Given the description of an element on the screen output the (x, y) to click on. 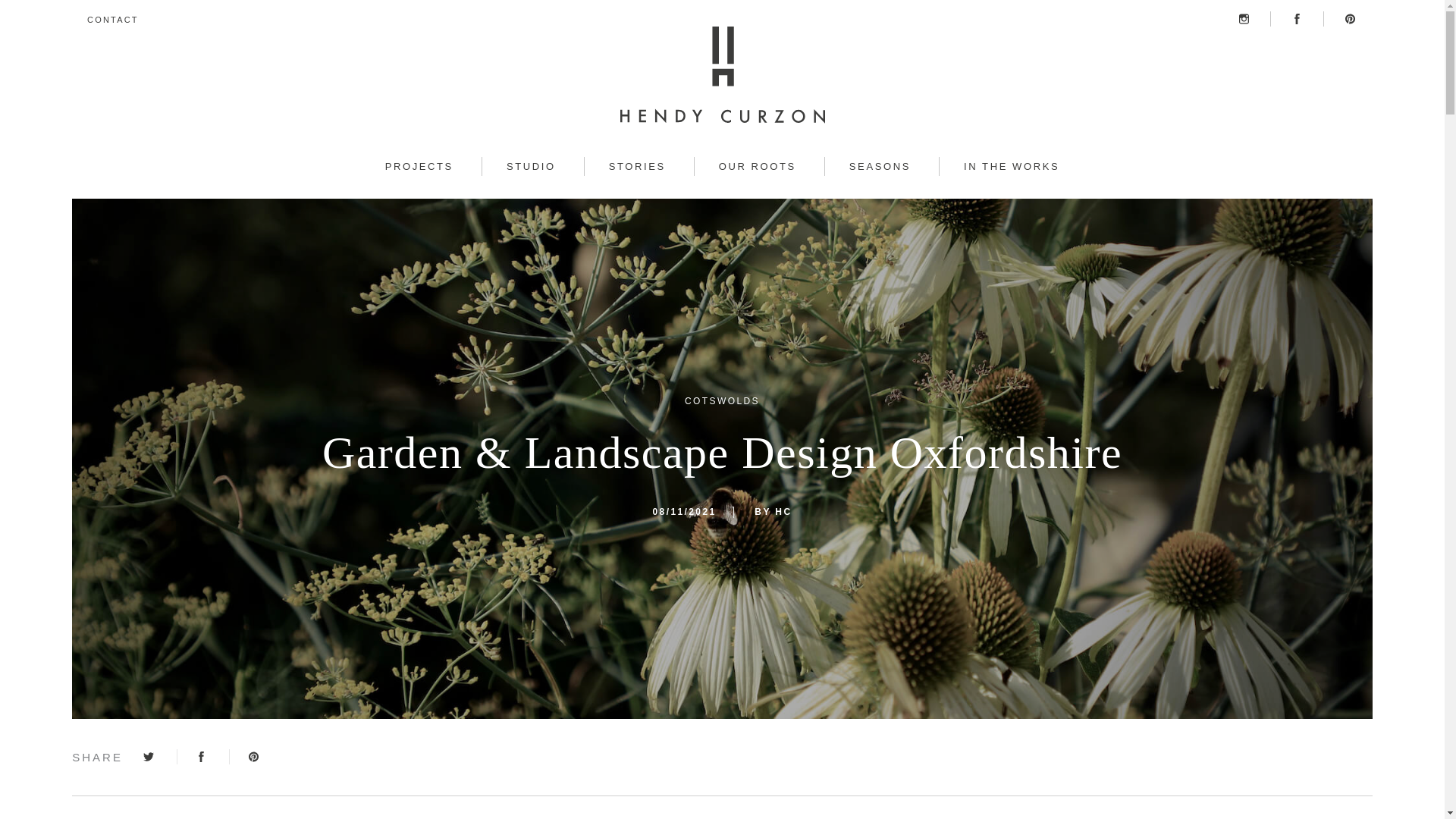
IN THE WORKS (1011, 166)
STUDIO (530, 166)
STORIES (636, 166)
OUR ROOTS (757, 166)
SEASONS (879, 166)
PROJECTS (419, 166)
CONTACT (112, 19)
